Given the description of an element on the screen output the (x, y) to click on. 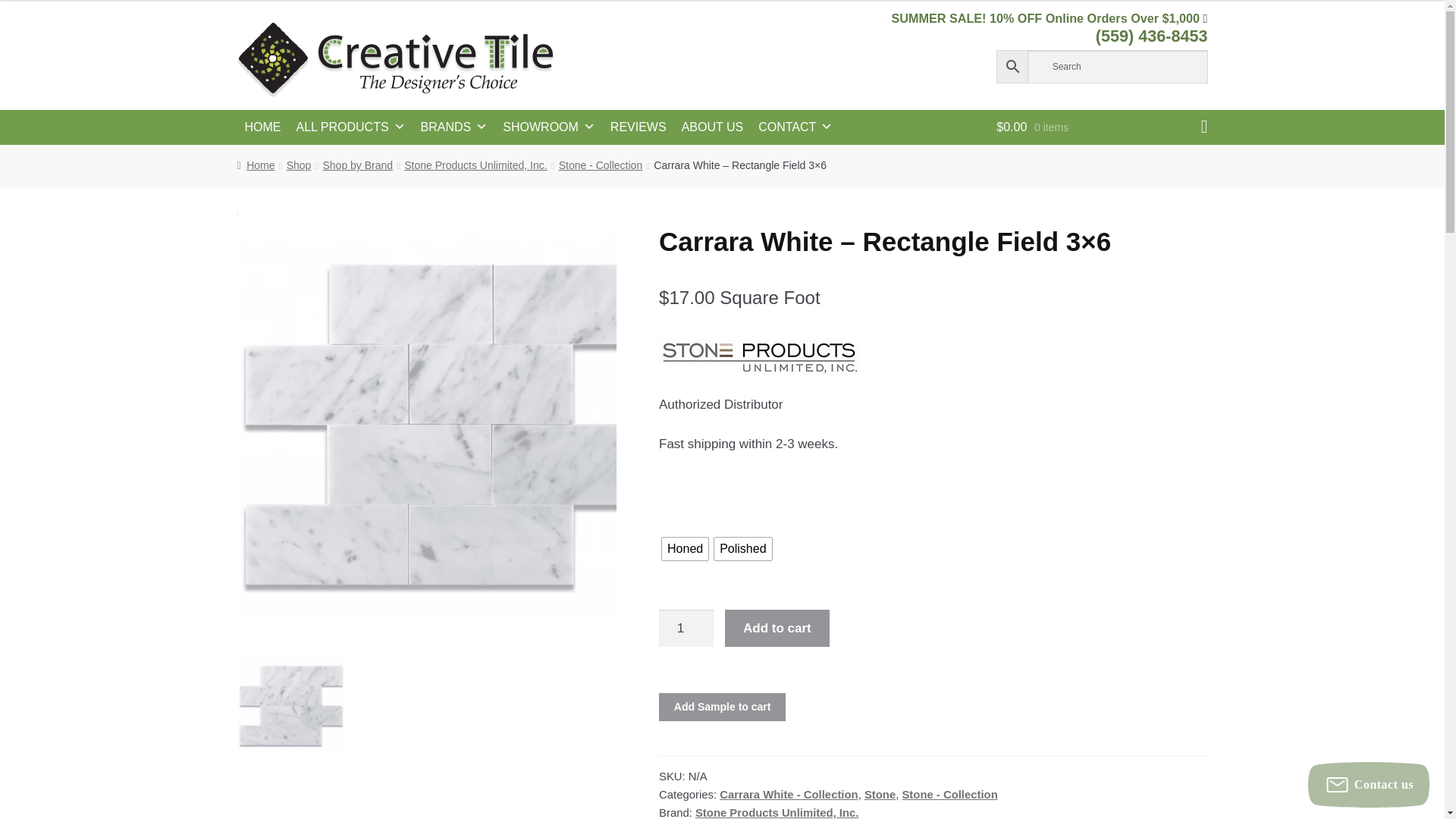
Polished (742, 548)
HOME (261, 126)
ALL PRODUCTS (350, 126)
View your shopping cart (1101, 126)
1 (686, 628)
Honed (684, 548)
